Given the description of an element on the screen output the (x, y) to click on. 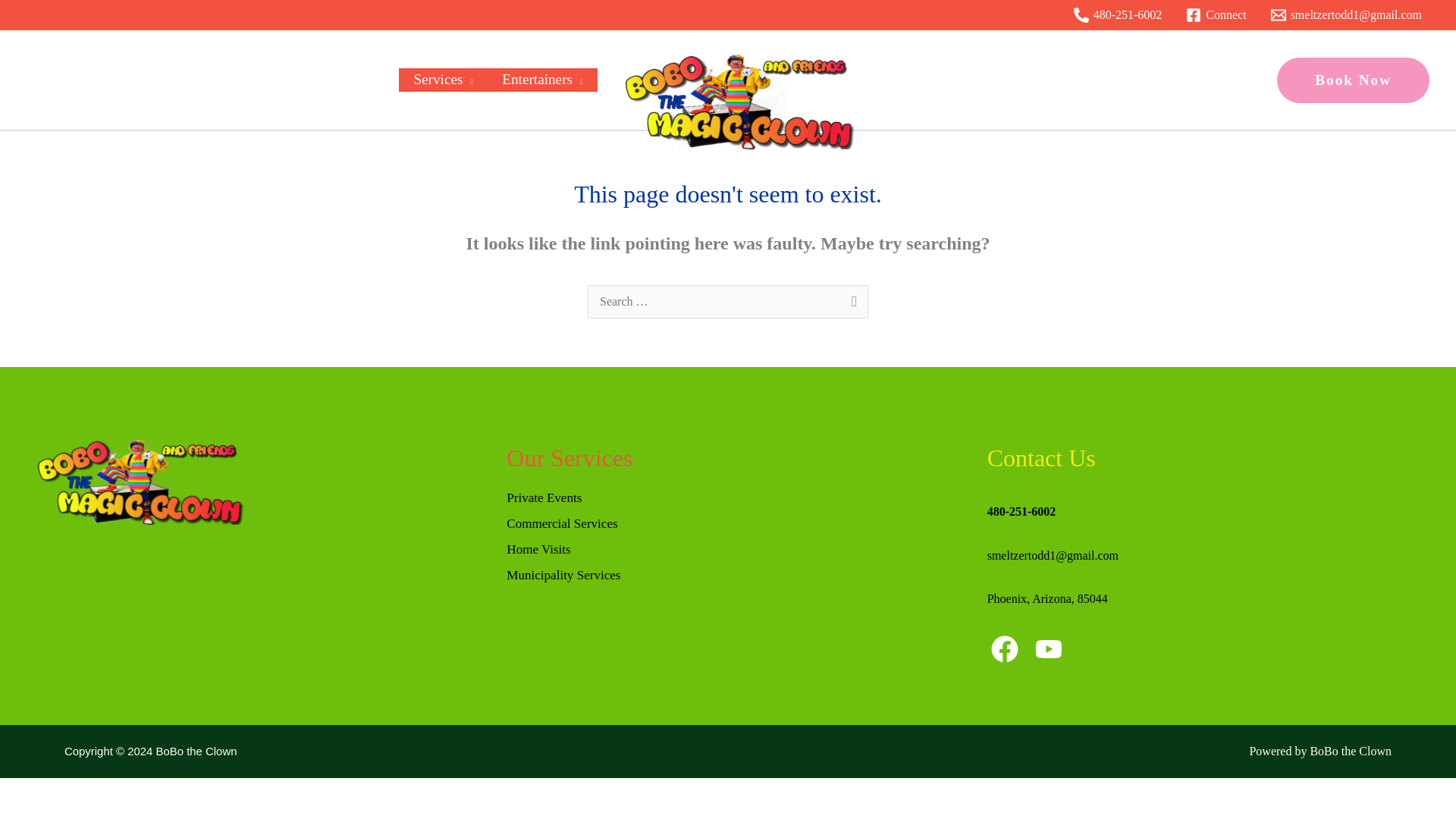
Book Now (1352, 80)
Entertainers (541, 78)
Gallery (1020, 78)
Services (442, 78)
Testimonials (932, 78)
Connect (1215, 15)
480-251-6002 (1117, 15)
